Given the description of an element on the screen output the (x, y) to click on. 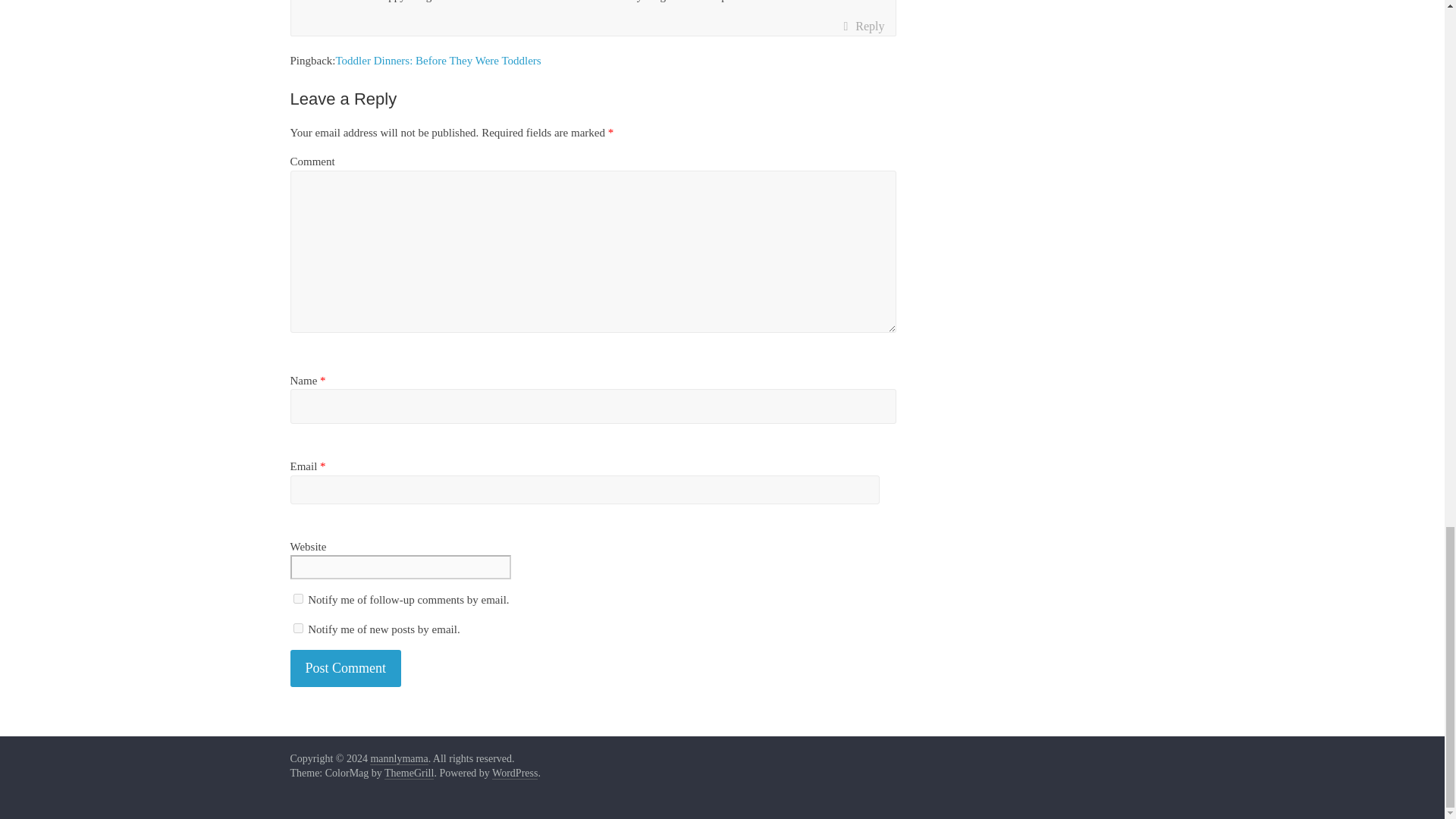
Post Comment (345, 668)
subscribe (297, 628)
subscribe (297, 598)
